Given the description of an element on the screen output the (x, y) to click on. 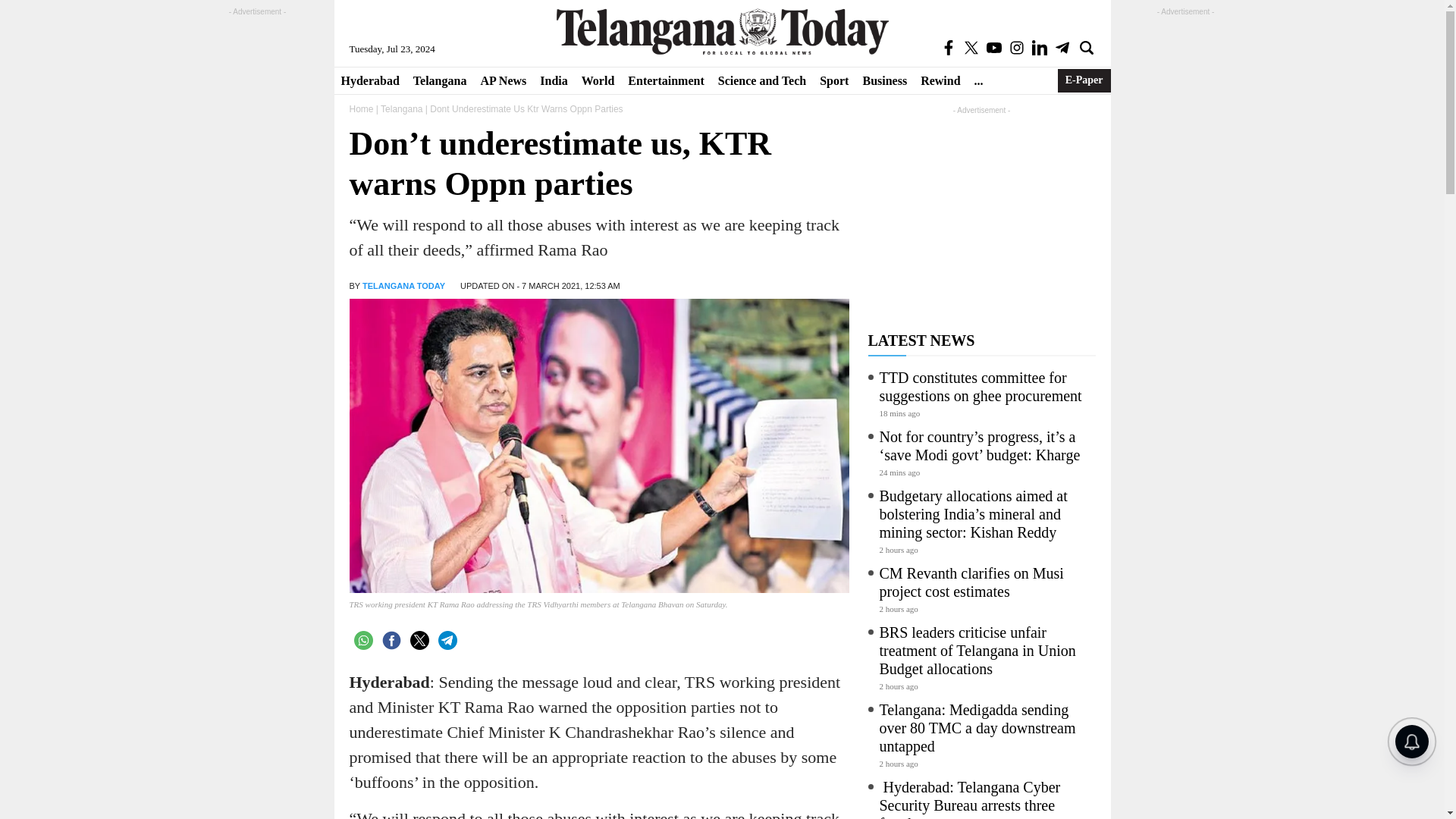
Rewind (940, 80)
Rewind (940, 80)
AP News (502, 80)
... (979, 80)
... (979, 80)
Business (885, 80)
AP News (502, 80)
Sport (834, 80)
Telangana (440, 80)
TELANGANA TODAY (403, 285)
E-Paper (1084, 80)
India (552, 80)
Business (885, 80)
Entertainment (665, 80)
Telangana (440, 80)
